Given the description of an element on the screen output the (x, y) to click on. 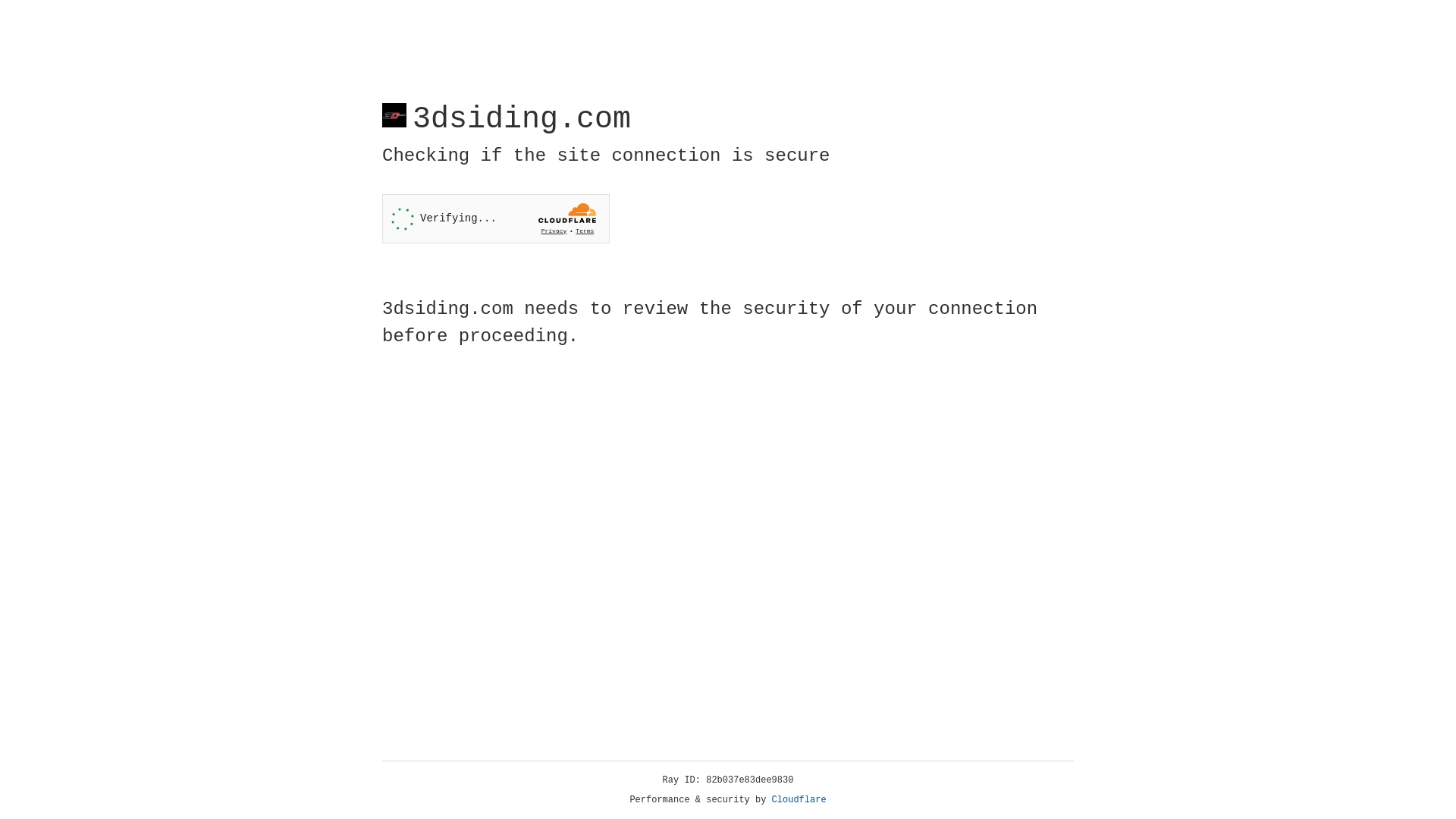
Cloudflare Element type: text (798, 799)
Widget containing a Cloudflare security challenge Element type: hover (495, 218)
